Given the description of an element on the screen output the (x, y) to click on. 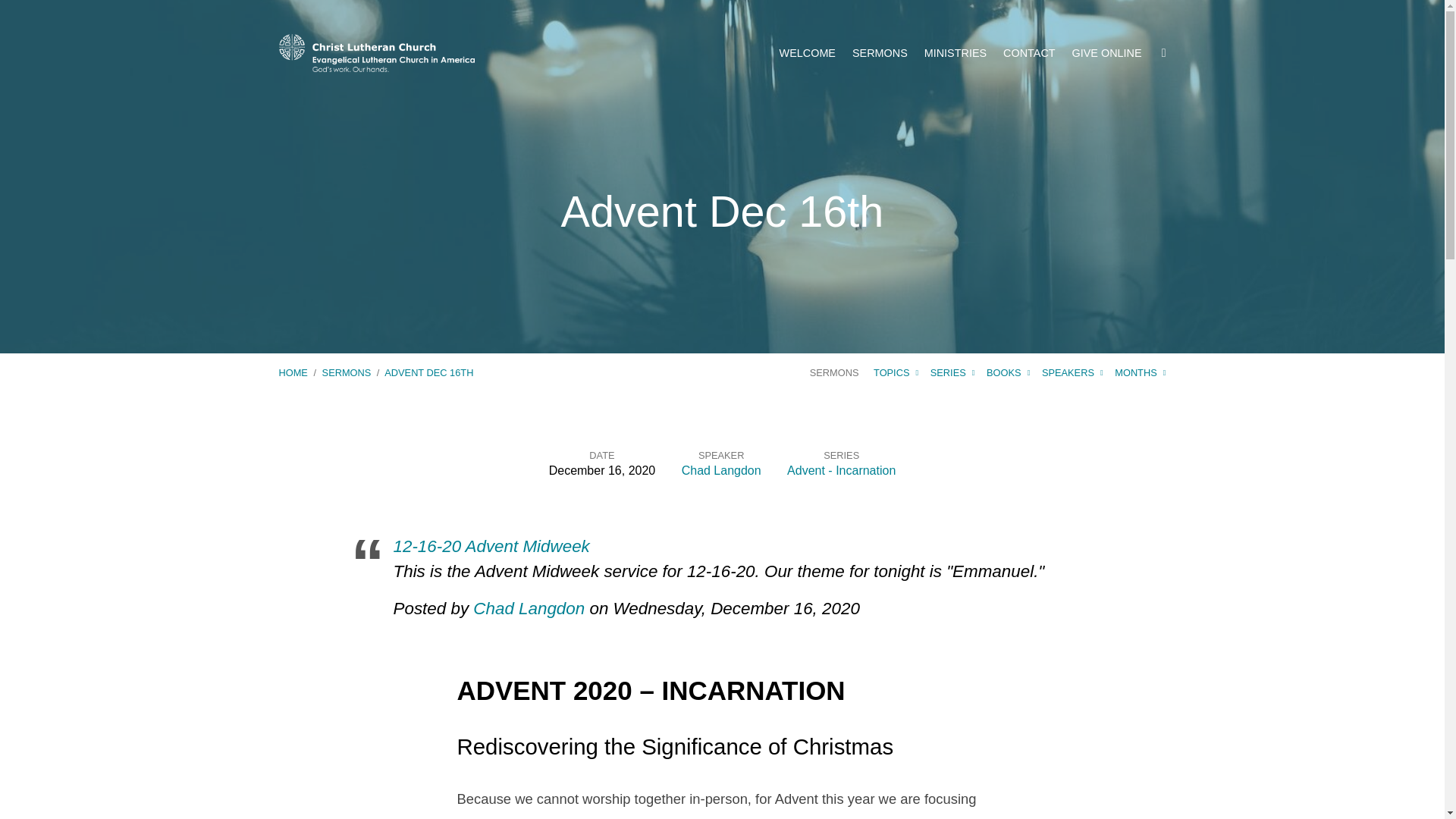
WELCOME (806, 52)
GIVE ONLINE (1106, 52)
Open Search (1163, 52)
HOME (293, 372)
SERIES (952, 372)
MINISTRIES (955, 52)
ADVENT DEC 16TH (428, 372)
SERMONS (346, 372)
TOPICS (895, 372)
SERMONS (834, 372)
SERMONS (879, 52)
CONTACT (1028, 52)
